Given the description of an element on the screen output the (x, y) to click on. 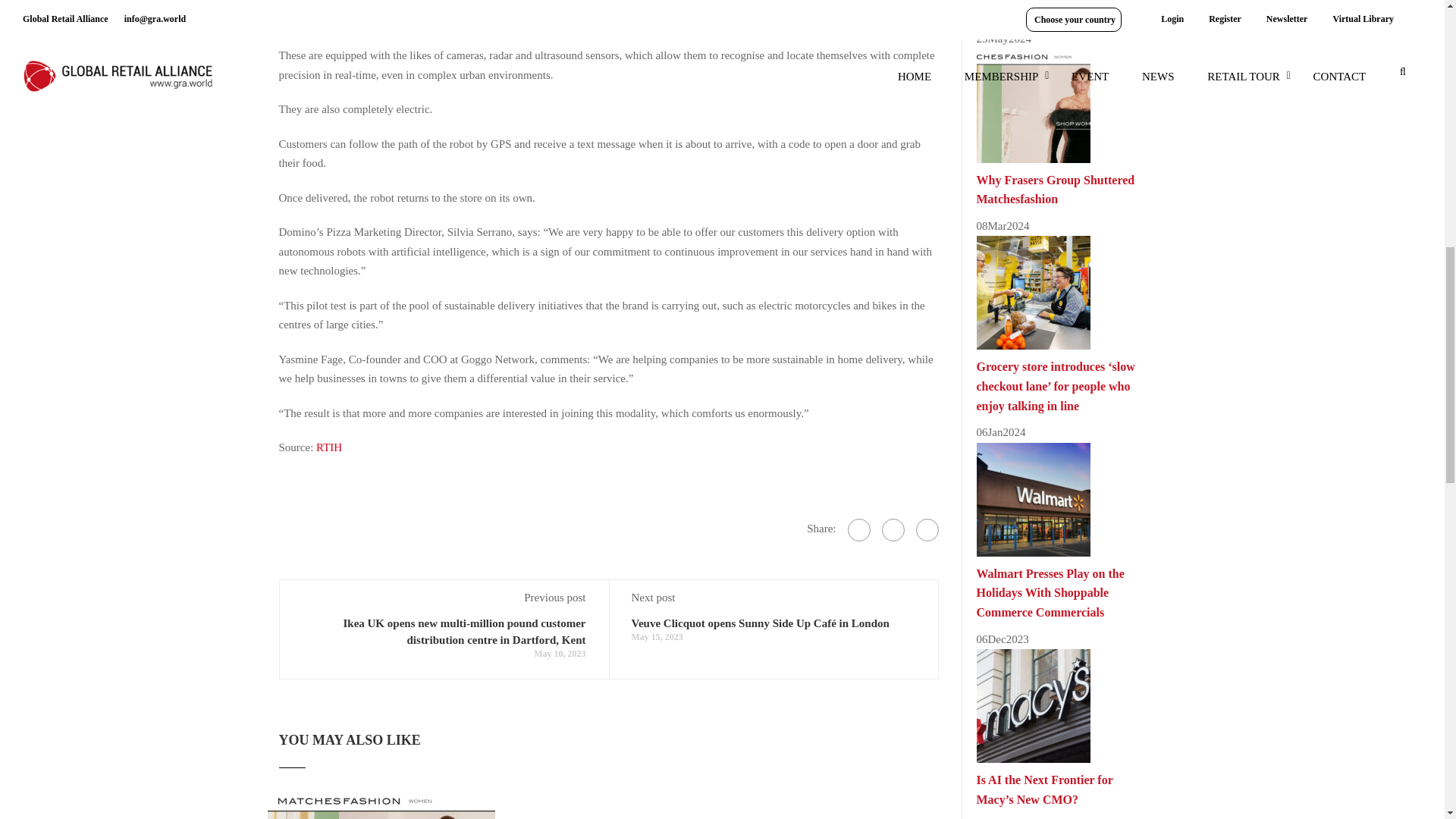
matchesfashion (380, 804)
Facebook (858, 529)
Twitter (892, 529)
